Given the description of an element on the screen output the (x, y) to click on. 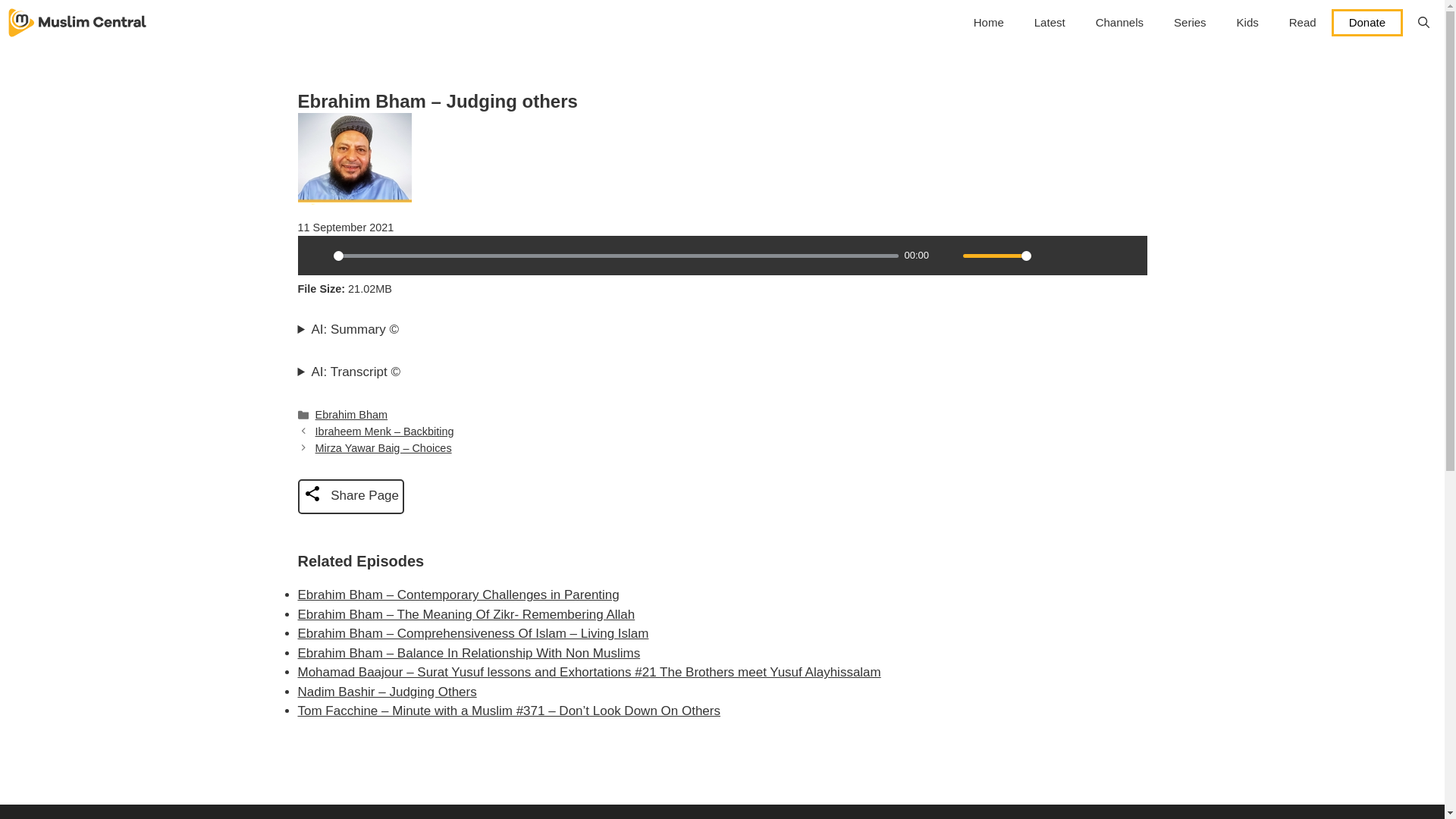
Settings (1048, 255)
Latest (1049, 22)
Download (1074, 255)
1 (996, 255)
Mute (946, 255)
Ebrahim Bham (351, 414)
Channels (1119, 22)
Series (1189, 22)
Read (1303, 22)
Play (316, 255)
